Given the description of an element on the screen output the (x, y) to click on. 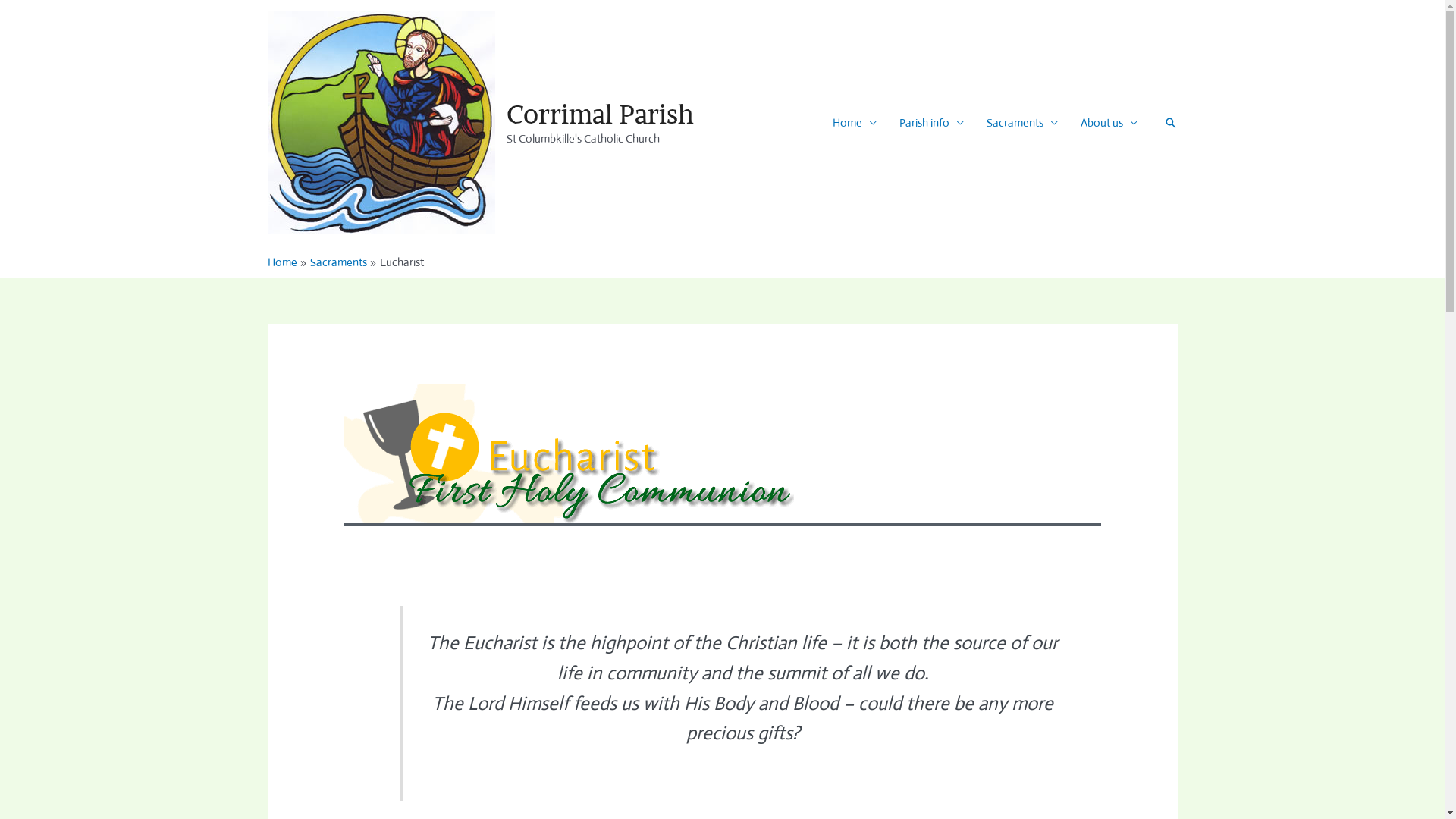
Corrimal Parish Element type: text (599, 113)
Parish info Element type: text (930, 122)
Home Element type: text (281, 261)
About us Element type: text (1108, 122)
Search Element type: text (1169, 122)
Home Element type: text (853, 122)
Sacraments Element type: text (1022, 122)
Sacraments Element type: text (337, 261)
